Given the description of an element on the screen output the (x, y) to click on. 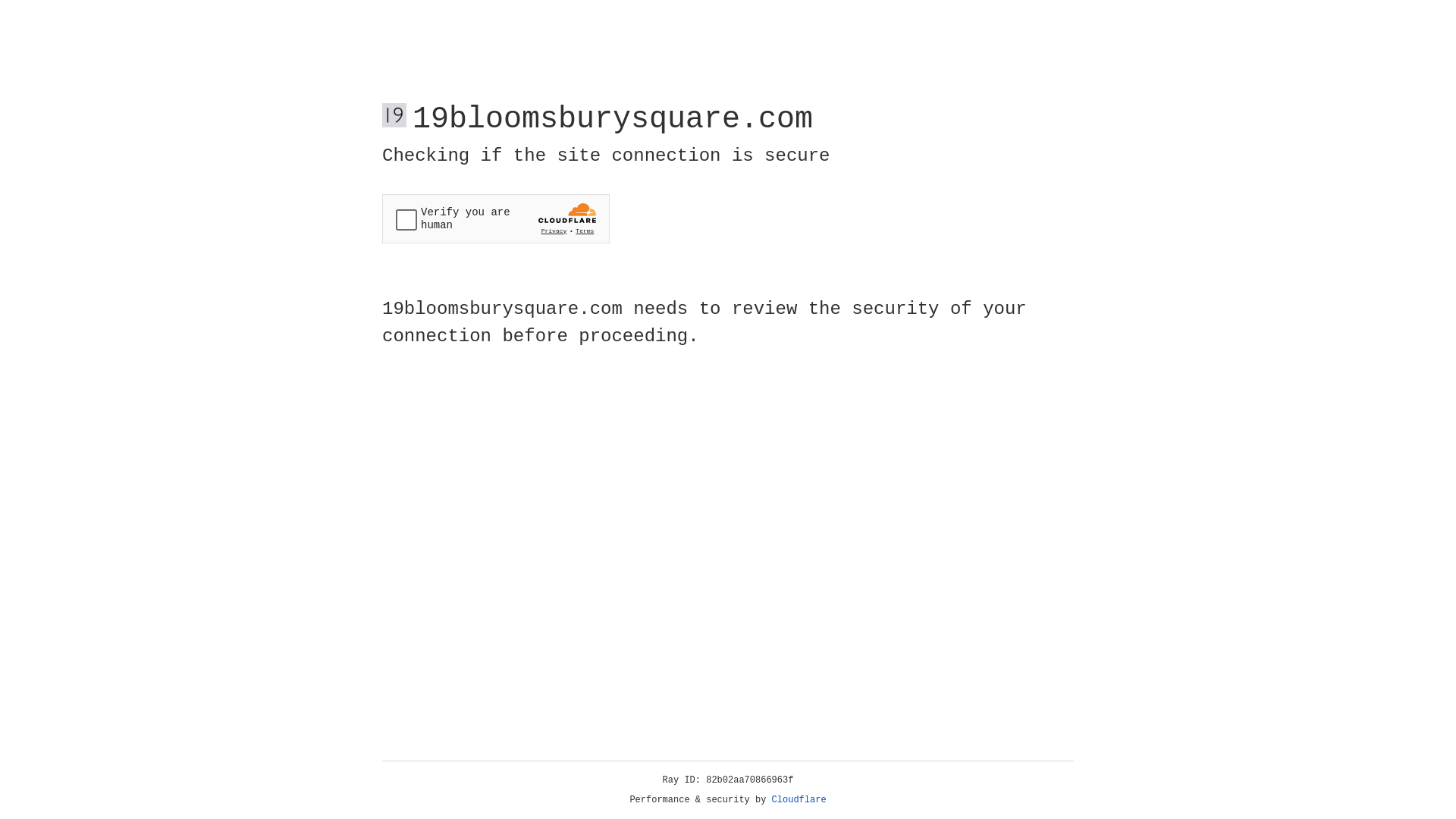
Cloudflare Element type: text (798, 799)
Widget containing a Cloudflare security challenge Element type: hover (495, 218)
